Given the description of an element on the screen output the (x, y) to click on. 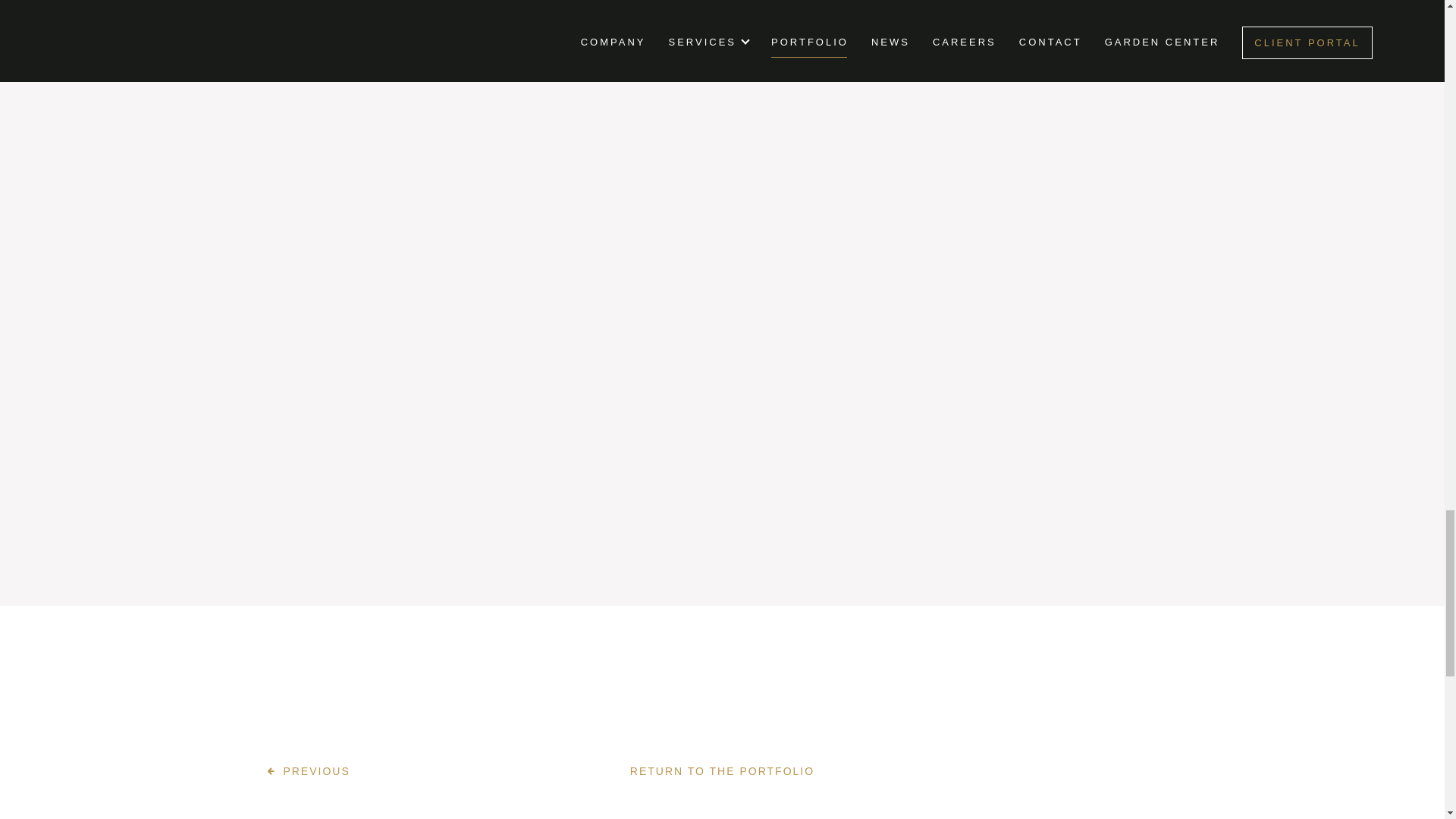
RETURN TO THE PORTFOLIO (721, 771)
Timber Lodge (307, 771)
PREVIOUS (307, 771)
Return to the Portfolio (721, 771)
